Given the description of an element on the screen output the (x, y) to click on. 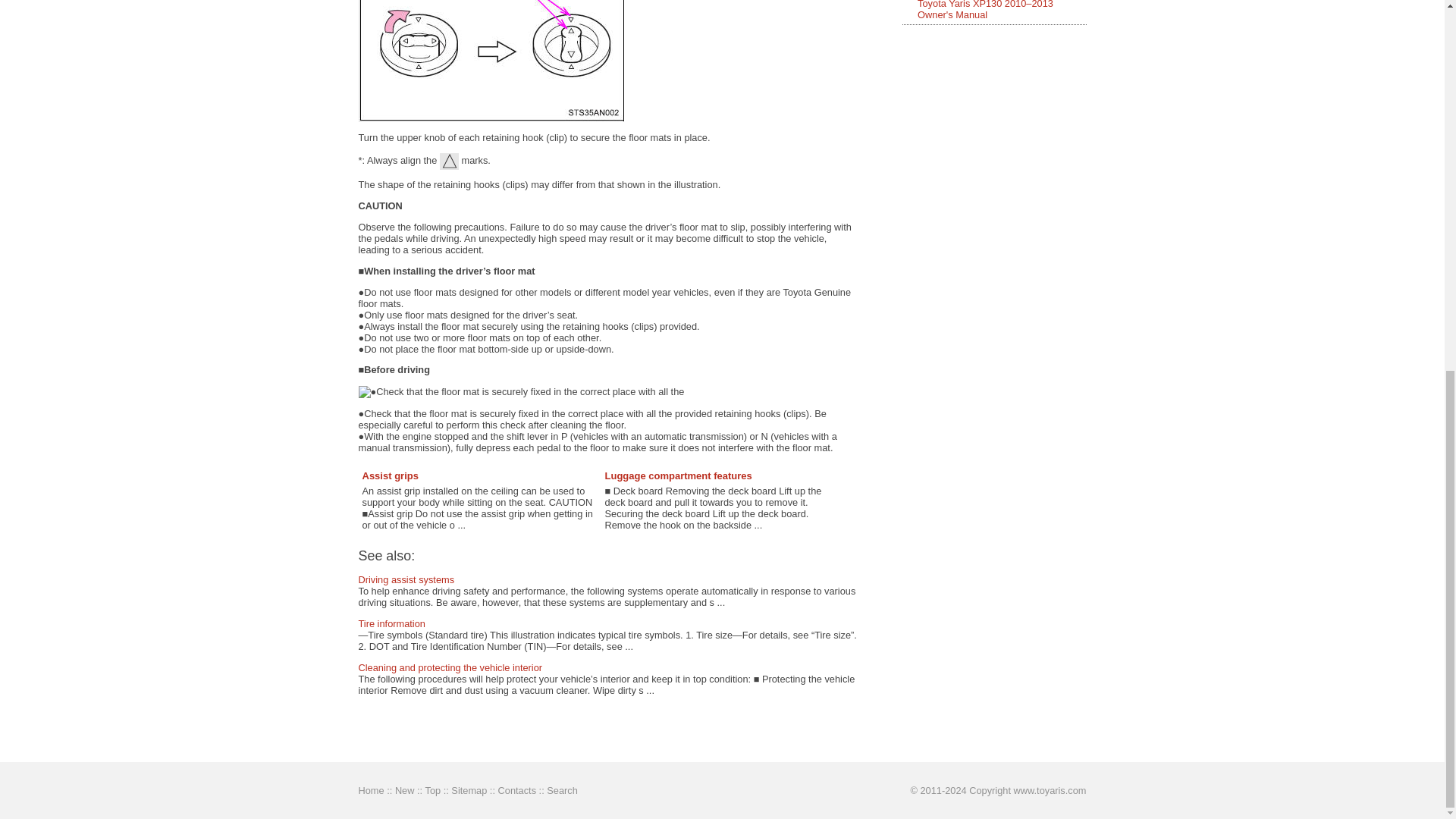
Sitemap (468, 790)
Cleaning and protecting the vehicle interior (449, 667)
Tire information (391, 623)
Driving assist systems (406, 579)
New (404, 790)
Assist grips (390, 475)
Contacts (517, 790)
Search (562, 790)
Top (433, 790)
Home (371, 790)
